Given the description of an element on the screen output the (x, y) to click on. 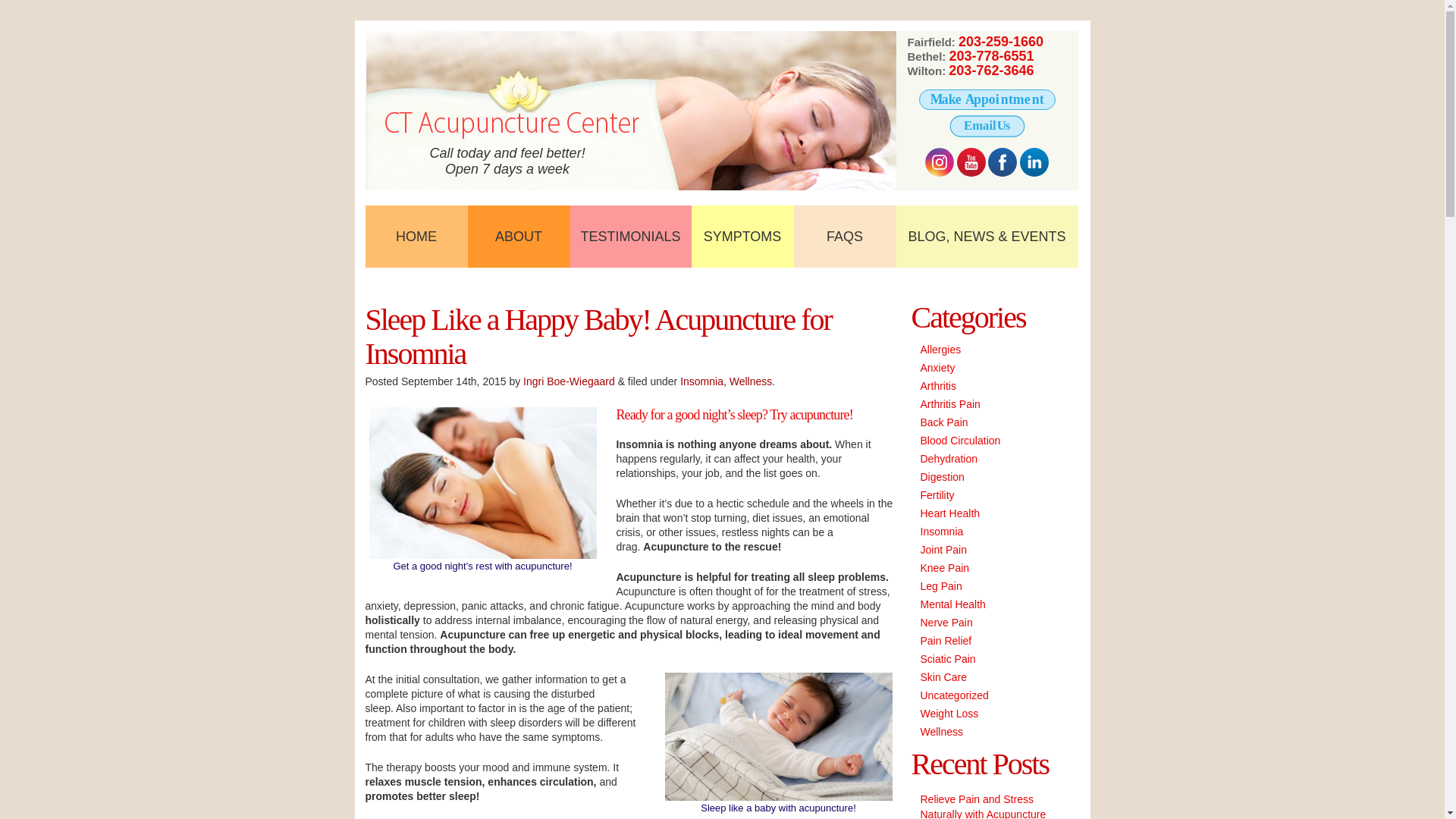
youtube (970, 162)
facebook (1002, 162)
TESTIMONIALS (630, 236)
SYMPTOMS (742, 236)
HOME (416, 236)
linkedin (1034, 162)
twitter (938, 162)
ABOUT (518, 236)
